Given the description of an element on the screen output the (x, y) to click on. 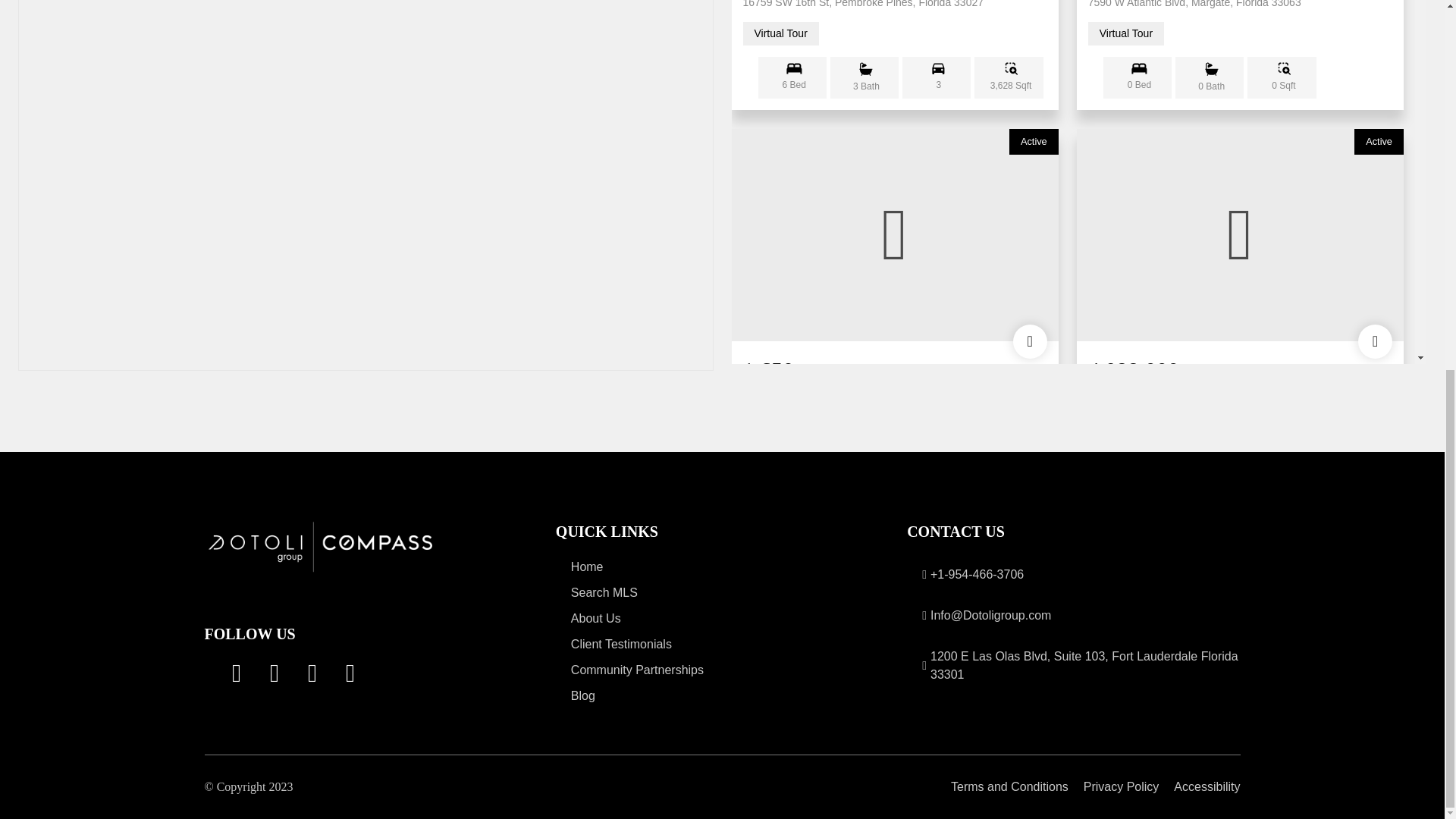
Add to favorites (1029, 341)
Add to favorites (1374, 788)
Add to favorites (1374, 341)
Add to favorites (1029, 788)
